Given the description of an element on the screen output the (x, y) to click on. 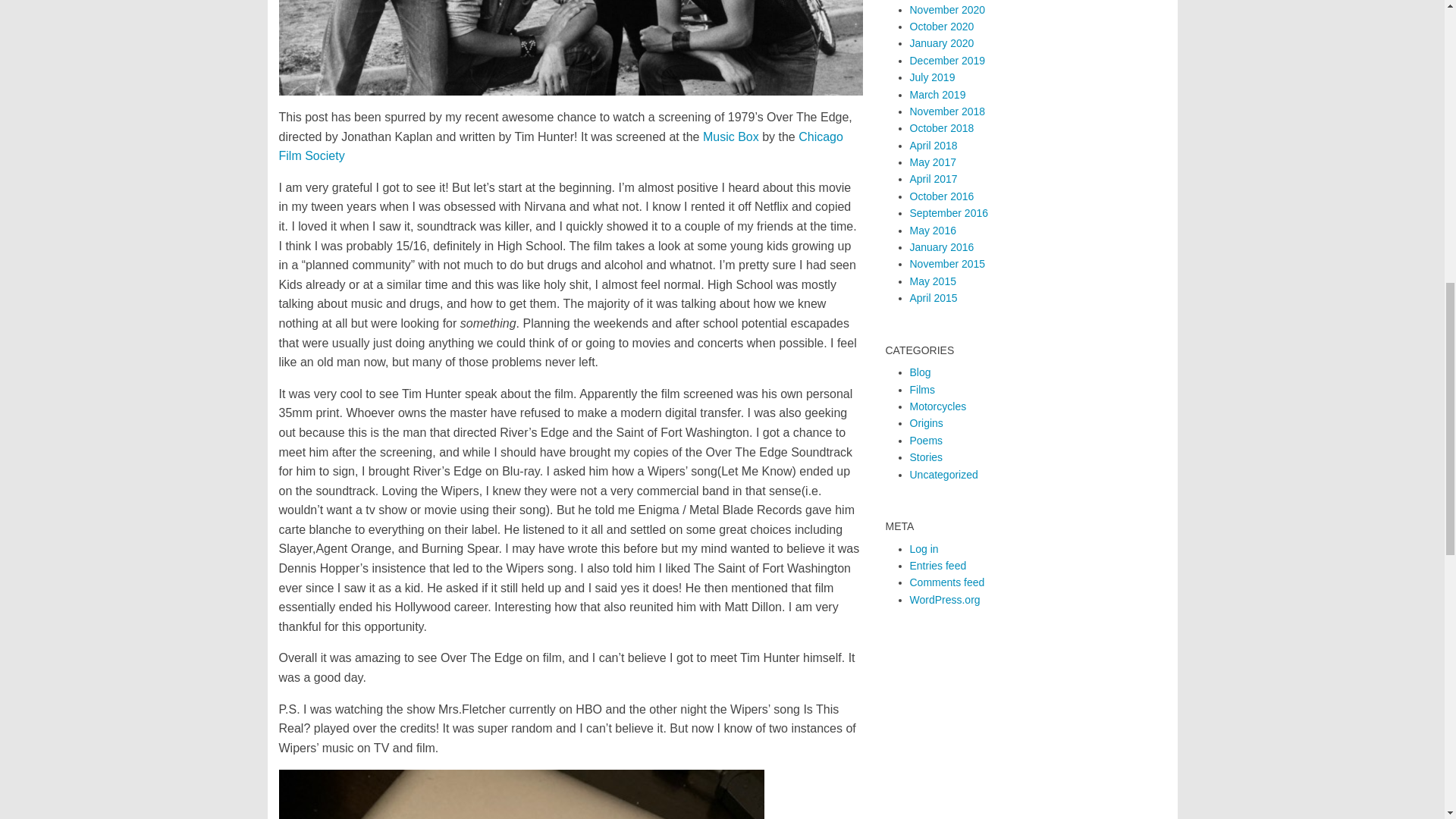
January 2020 (942, 42)
October 2020 (942, 26)
July 2019 (932, 77)
November 2018 (947, 111)
December 2019 (947, 60)
November 2020 (947, 9)
May 2017 (933, 162)
Chicago Film Society (561, 146)
Music Box (730, 136)
April 2018 (934, 145)
March 2019 (938, 93)
October 2018 (942, 128)
